Given the description of an element on the screen output the (x, y) to click on. 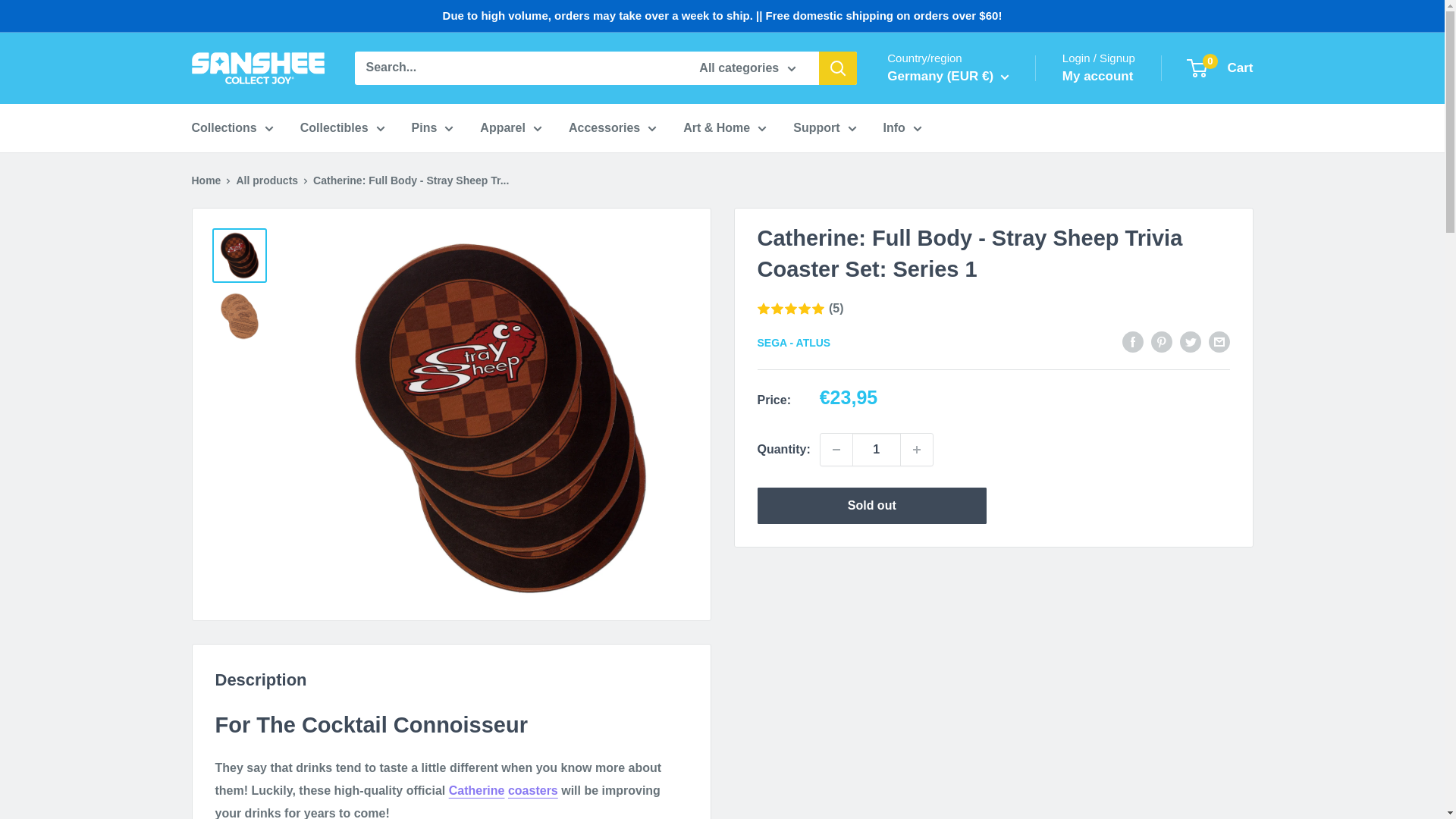
Increase quantity by 1 (917, 450)
Official Catherine Collection by Sanshee (476, 789)
Decrease quantity by 1 (836, 450)
1 (876, 450)
Sanshee Drinkware (532, 789)
